Given the description of an element on the screen output the (x, y) to click on. 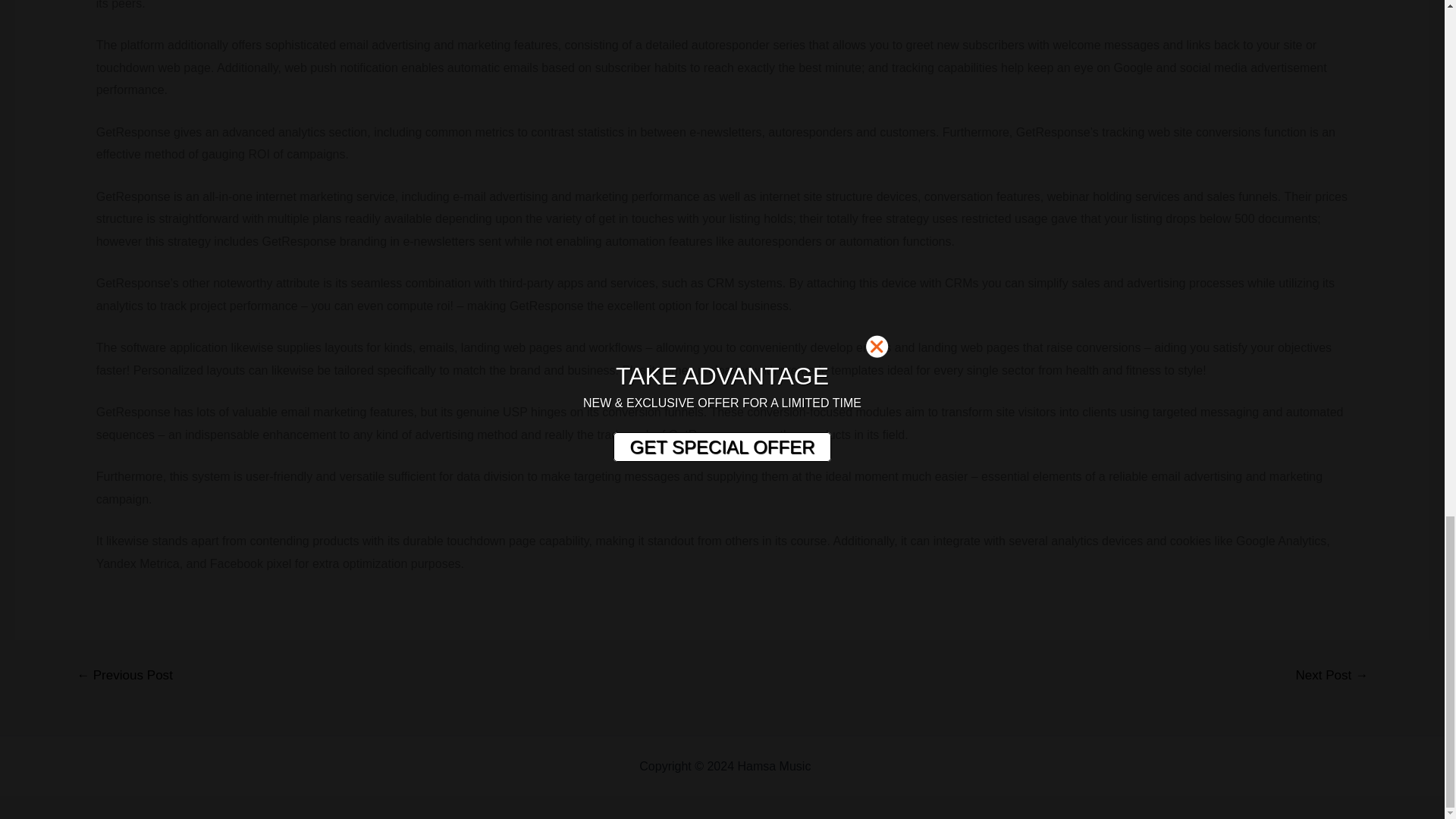
Sitemap (836, 766)
